Given the description of an element on the screen output the (x, y) to click on. 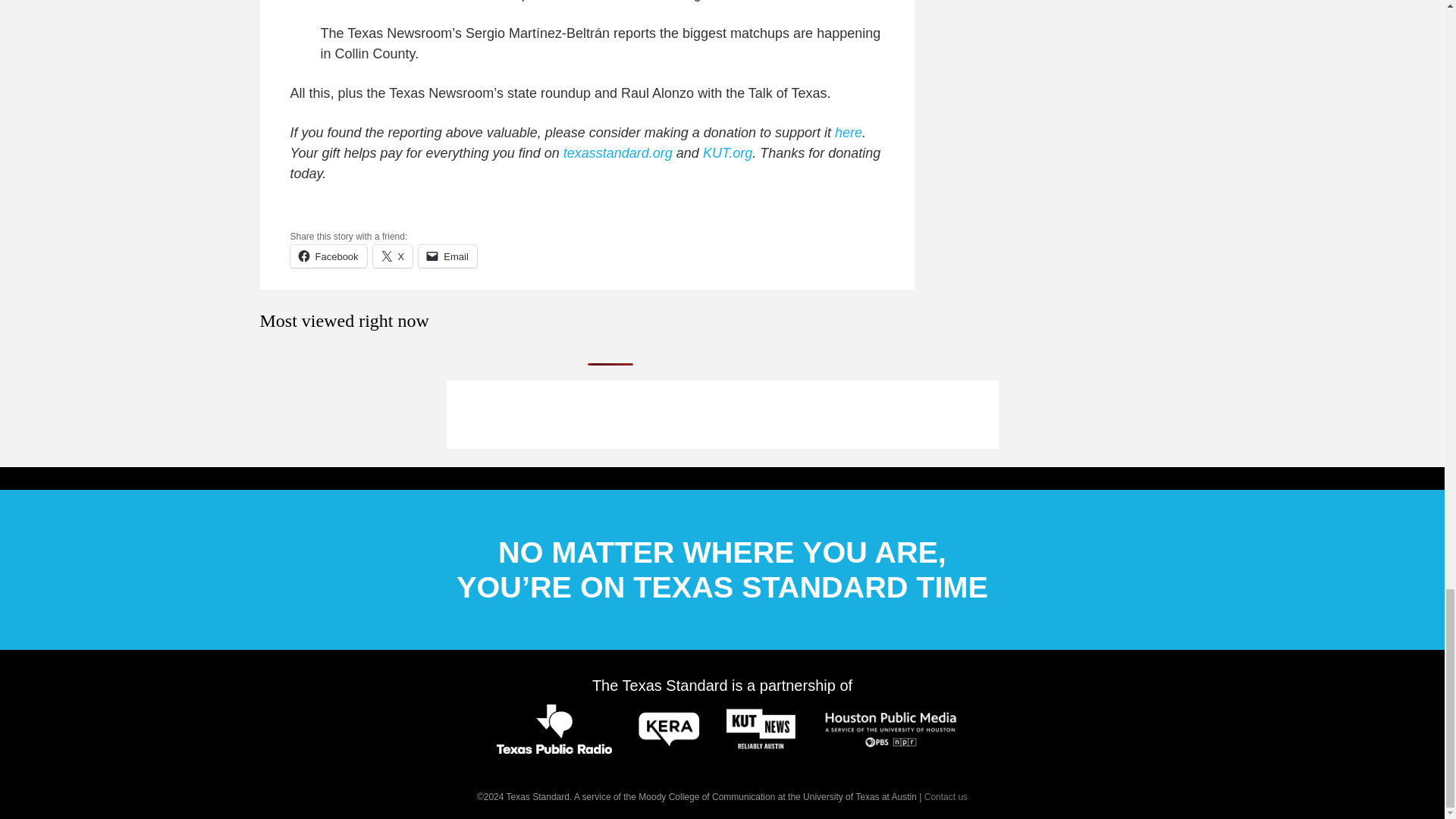
Click to share on Facebook (327, 255)
Click to email a link to a friend (448, 255)
Click to share on X (392, 255)
